Given the description of an element on the screen output the (x, y) to click on. 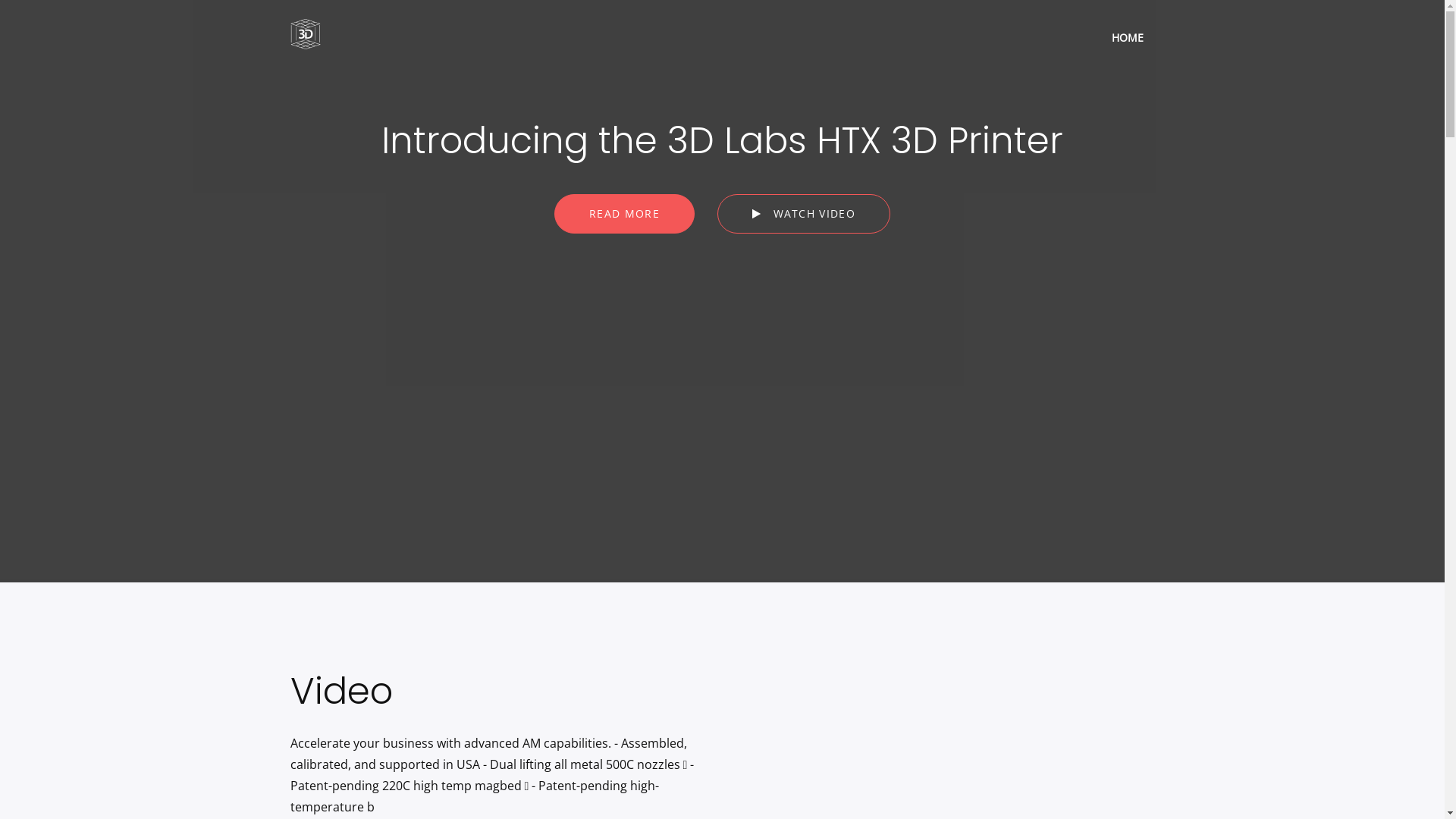
READ MORE Element type: text (624, 213)
WATCH VIDEO Element type: text (803, 213)
HOME Element type: text (1126, 37)
